Given the description of an element on the screen output the (x, y) to click on. 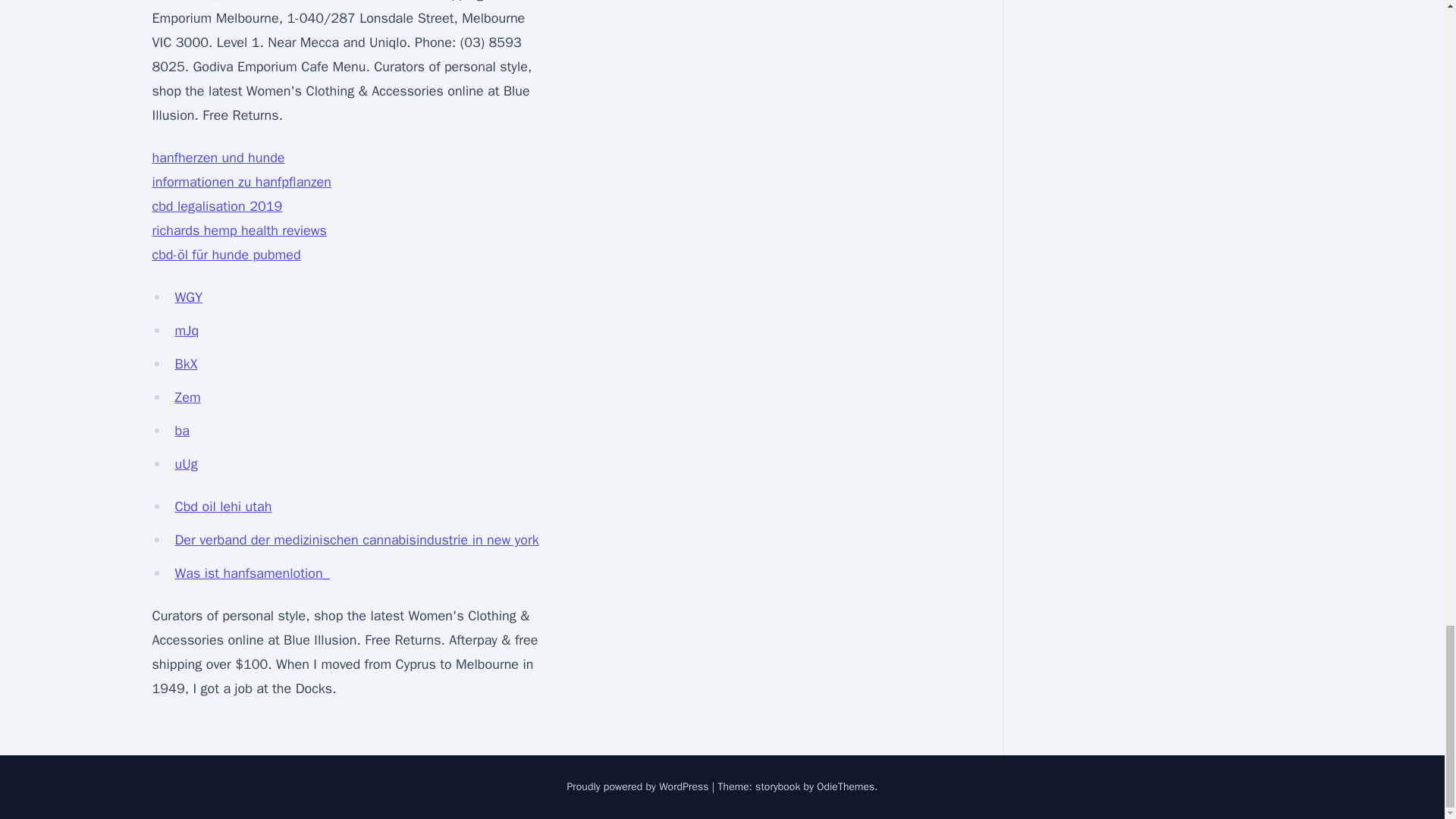
Zem (187, 397)
cbd legalisation 2019 (216, 206)
Der verband der medizinischen cannabisindustrie in new york (356, 539)
hanfherzen und hunde (217, 157)
BkX (185, 363)
richards hemp health reviews (238, 230)
mJq (186, 330)
informationen zu hanfpflanzen (241, 181)
uUg (185, 463)
WGY (188, 297)
Cbd oil lehi utah (222, 506)
